Given the description of an element on the screen output the (x, y) to click on. 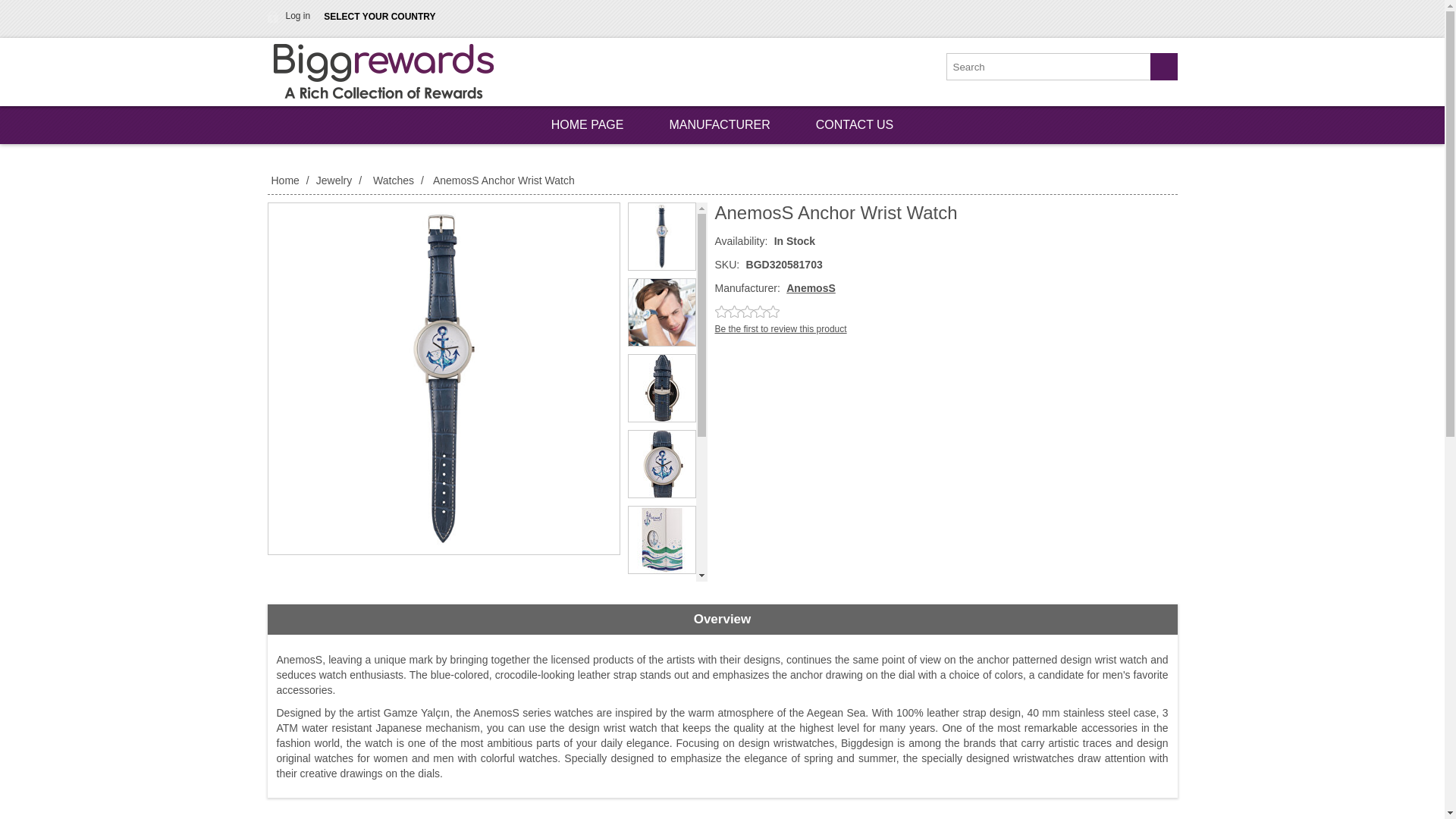
Watches (393, 180)
CONTACT US (855, 125)
Search (1163, 66)
Manufacturer (719, 125)
media.product.imagelinktitleformat.details (660, 312)
Search (1163, 66)
Overview (721, 619)
Log in (290, 15)
media.product.imagelinktitleformat.details (660, 236)
Contact Us (855, 125)
